Given the description of an element on the screen output the (x, y) to click on. 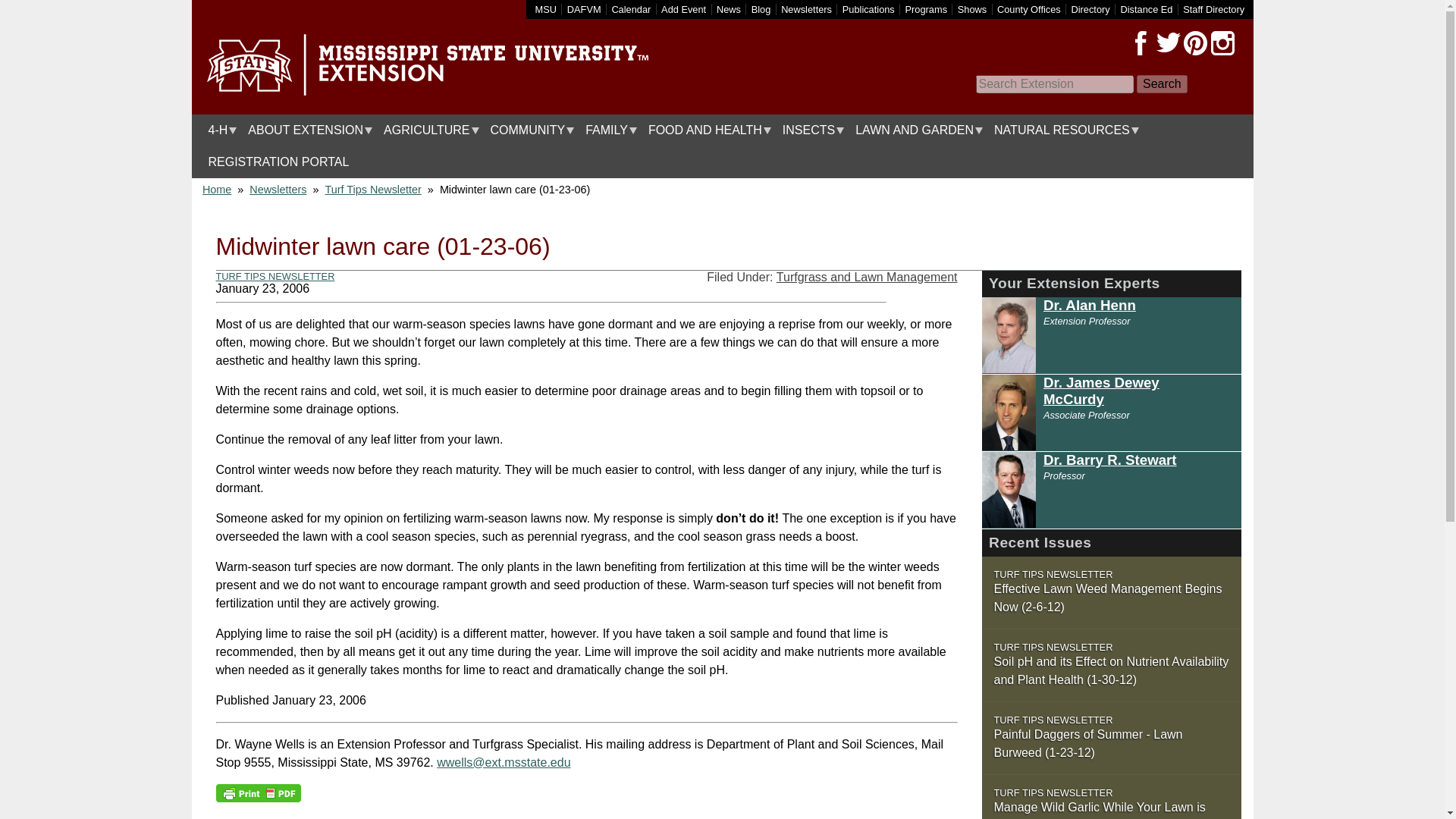
Facebook (1140, 43)
Directory of employees of the MSU Extension Service (1213, 9)
Search (1162, 84)
Directory (1089, 9)
Pinterest (1194, 43)
County Offices (1029, 9)
Add Event (683, 9)
Link to Mississippi State University (545, 9)
Blog (761, 9)
4-H (218, 130)
Instagram (1221, 43)
Twitter (1167, 43)
